Given the description of an element on the screen output the (x, y) to click on. 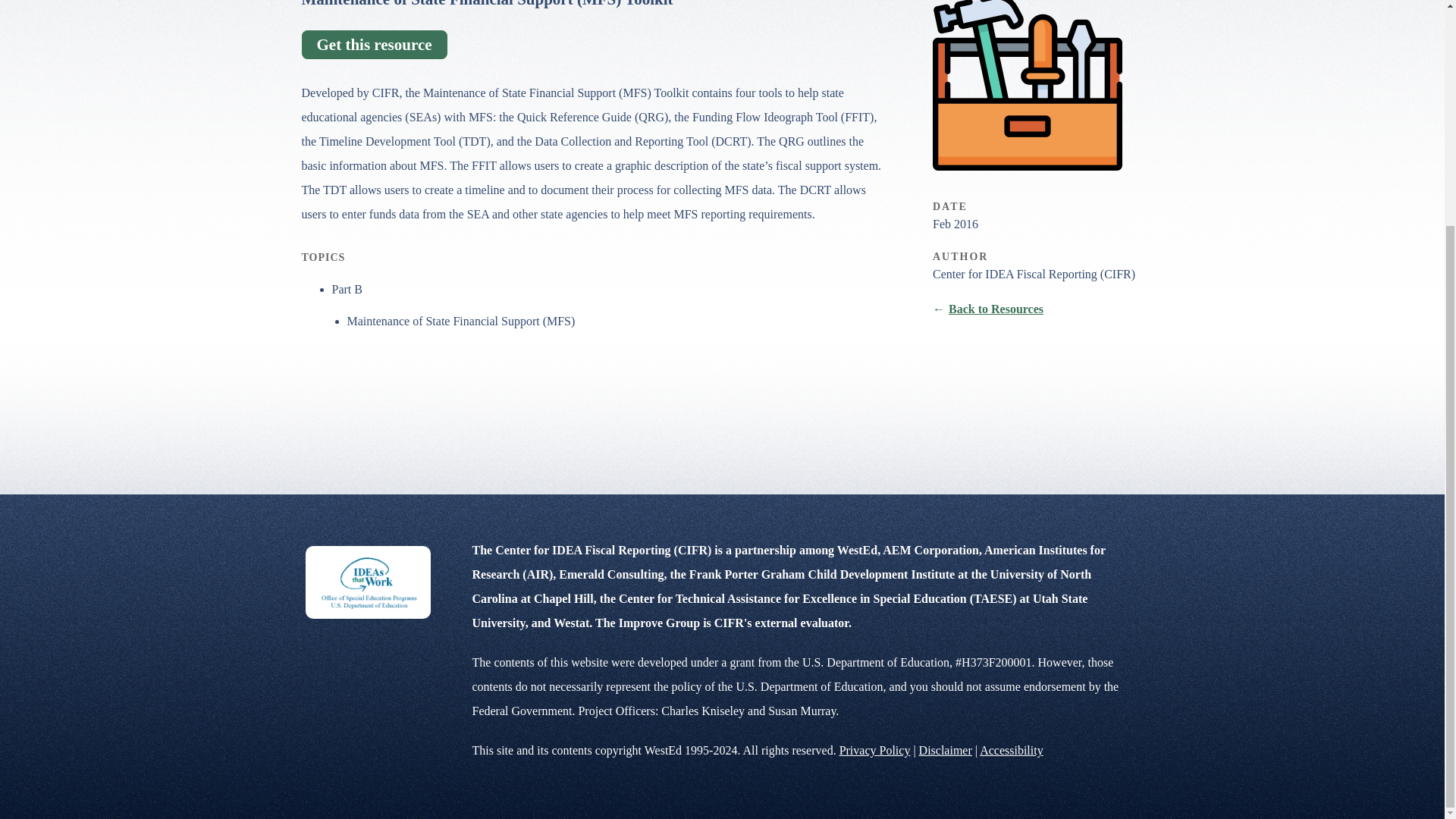
Privacy Policy (875, 749)
Get this resource (373, 44)
Back to Resources (988, 308)
Disclaimer (945, 749)
Accessibility (1011, 749)
